Given the description of an element on the screen output the (x, y) to click on. 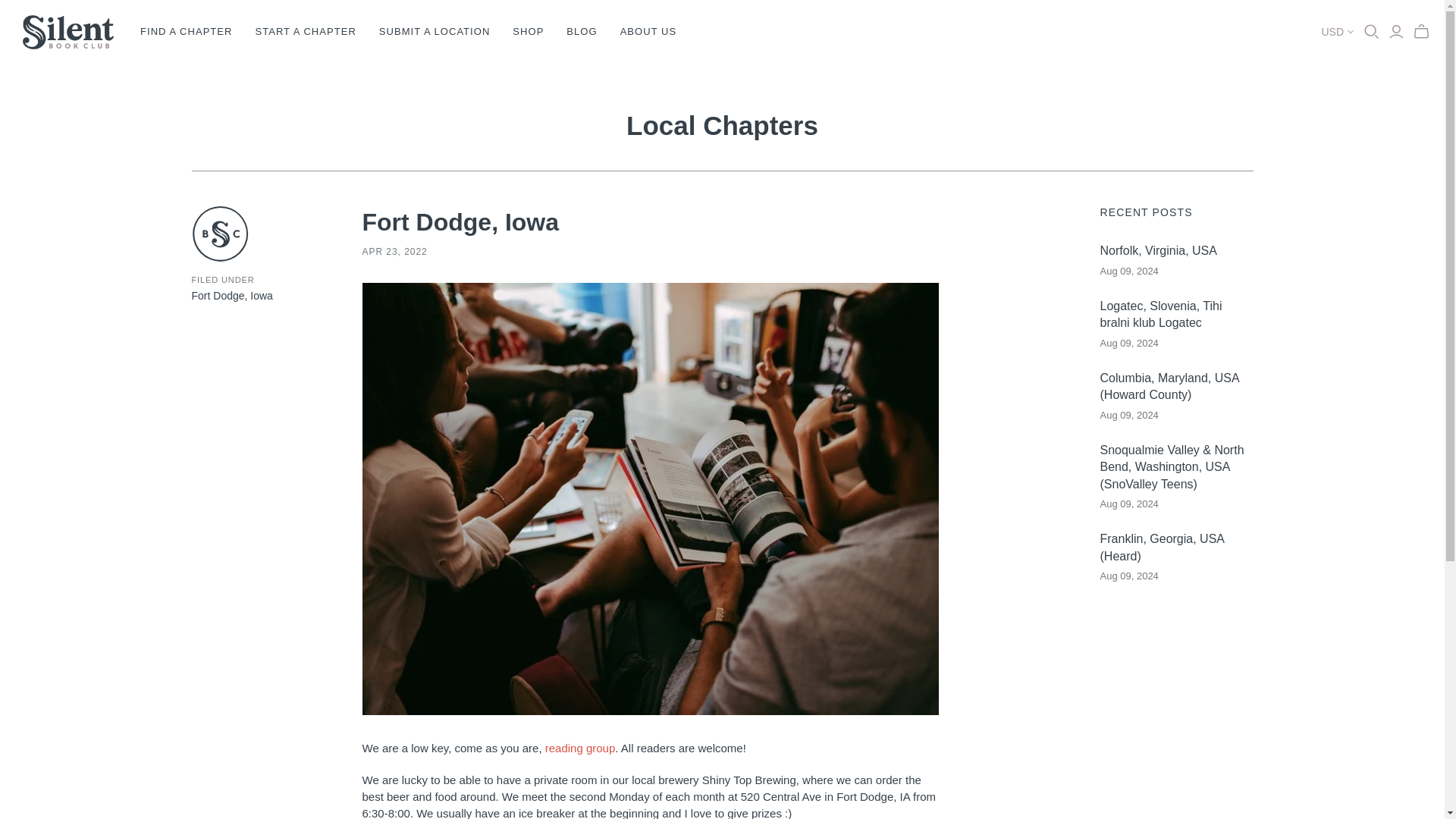
SHOP (527, 31)
FIND A CHAPTER (186, 31)
Norfolk, Virginia, USA (1175, 250)
BLOG (581, 31)
reading group (579, 748)
Fort Dodge, Iowa (460, 221)
Fort Dodge (217, 295)
START A CHAPTER (304, 31)
ABOUT US (648, 31)
Logatec, Slovenia, Tihi bralni klub Logatec (1175, 315)
